Given the description of an element on the screen output the (x, y) to click on. 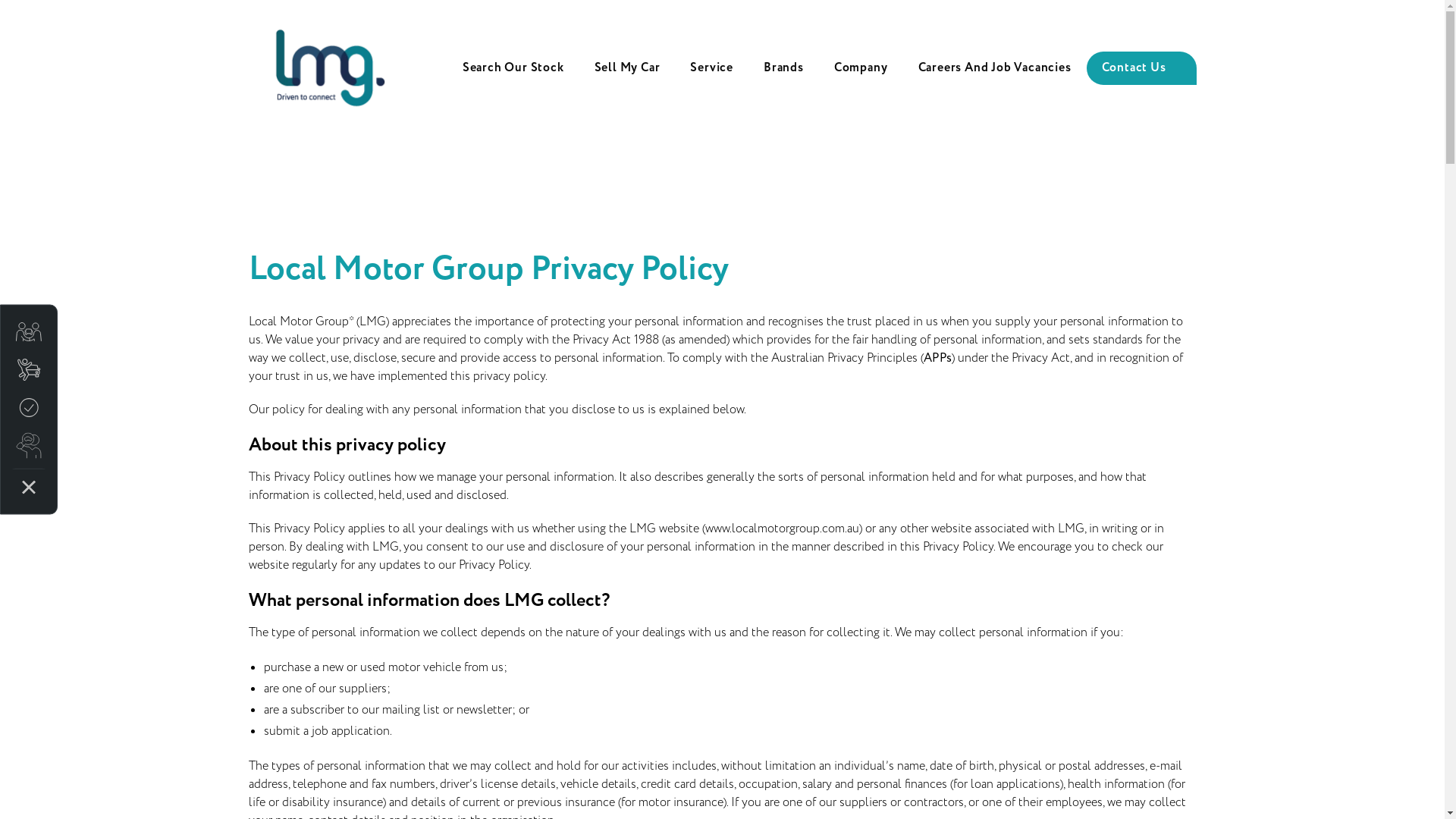
Company Element type: text (861, 67)
Search Our Stock Element type: text (513, 67)
Service Element type: text (711, 67)
Careers And Job Vacancies Element type: text (993, 67)
Sell My Car Element type: text (627, 67)
www.localmotorgroup.com.au Element type: text (782, 528)
Brands Element type: text (783, 67)
Contact Us Element type: text (1140, 67)
